Given the description of an element on the screen output the (x, y) to click on. 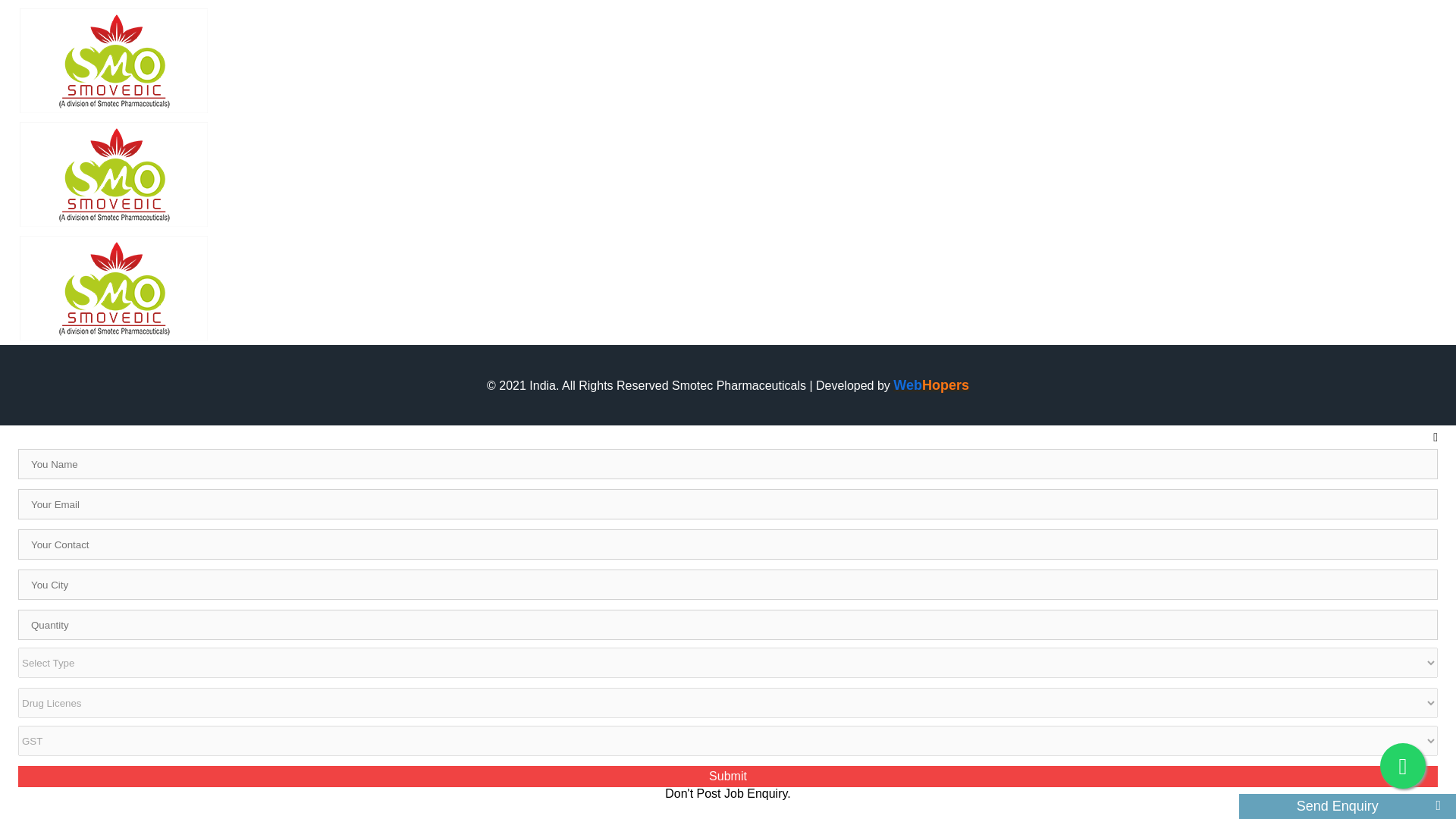
Submit (727, 776)
